Given the description of an element on the screen output the (x, y) to click on. 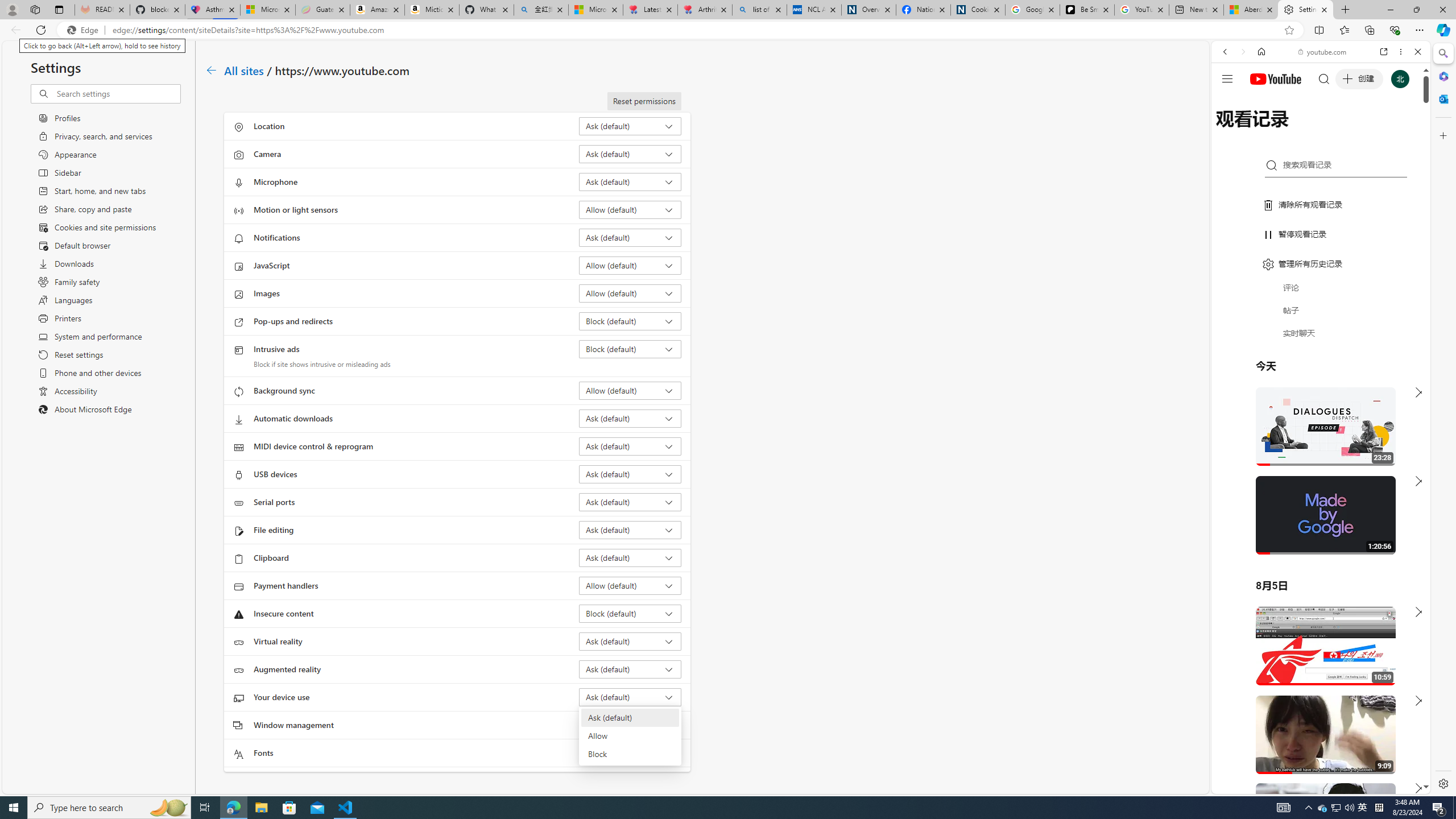
Allow (629, 736)
Notifications Ask (default) (630, 237)
Serial ports Ask (default) (630, 502)
Window management Ask (default) (630, 724)
Search Filter, WEB (1230, 129)
More options (1401, 51)
Insecure content Block (default) (630, 613)
Global web icon (1232, 655)
Fonts Ask (default) (630, 752)
